Given the description of an element on the screen output the (x, y) to click on. 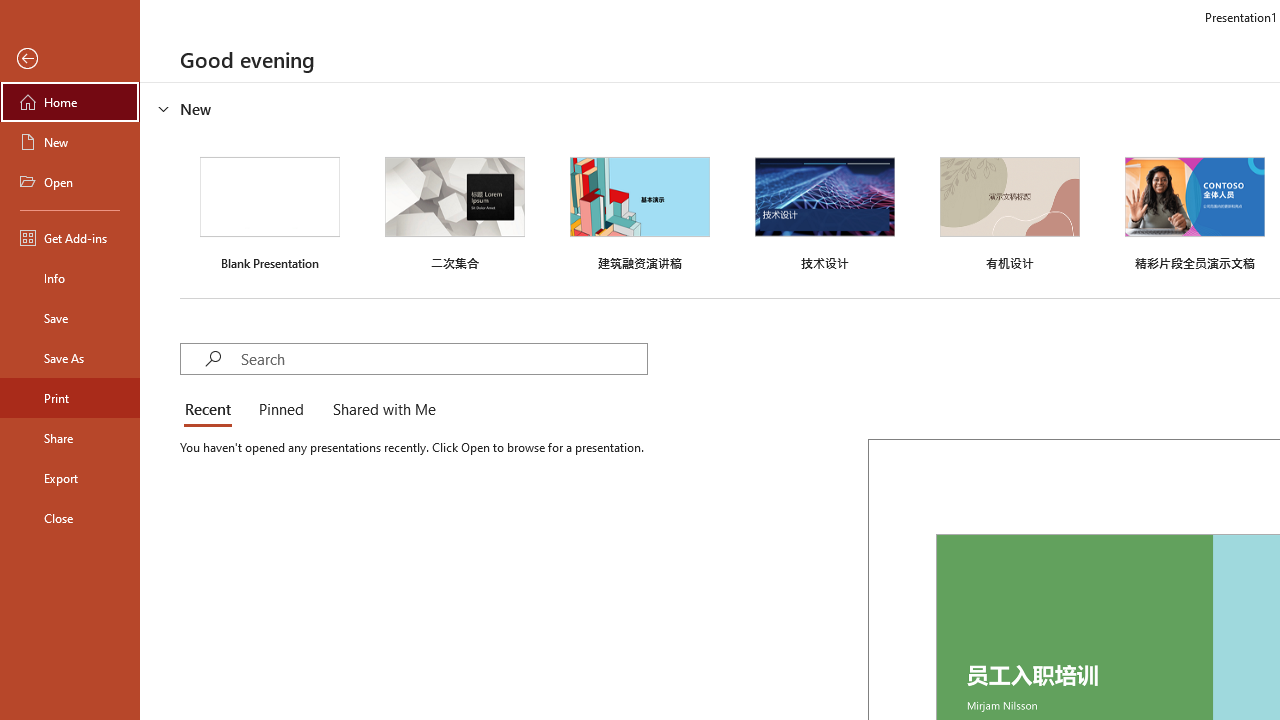
New (69, 141)
Print (69, 398)
Shared with Me (379, 410)
System (10, 11)
Blank Presentation (269, 211)
Info (69, 277)
Save As (69, 357)
Hide or show region (164, 108)
Open (69, 182)
Back (69, 59)
Home (69, 101)
Pinned (280, 410)
Search (443, 358)
